Given the description of an element on the screen output the (x, y) to click on. 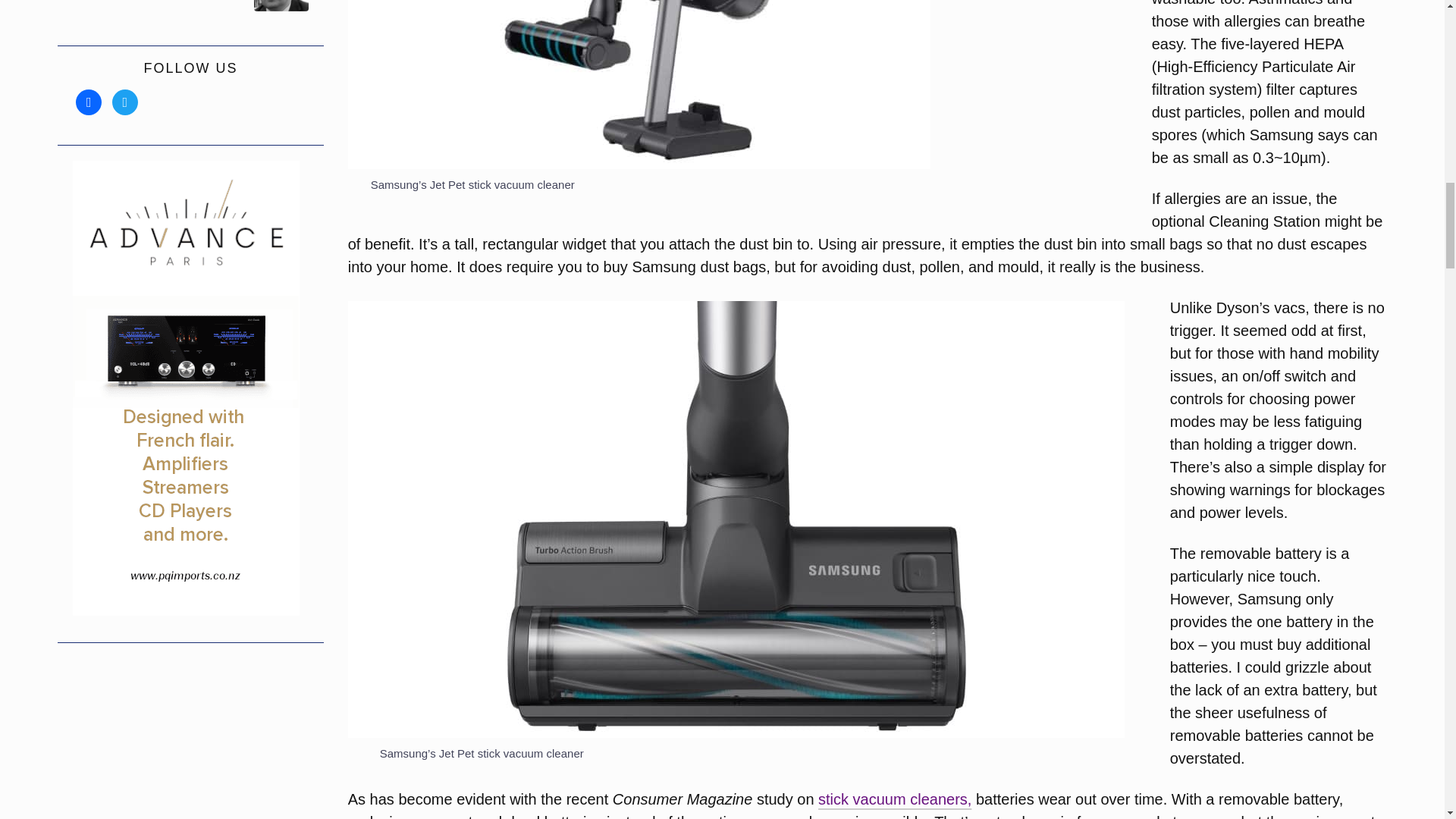
Pat Pilcher (160, 5)
X (125, 102)
Facebook (88, 102)
AshK (220, 5)
Gary Steel (100, 5)
Matthew Kelly (280, 5)
